Given the description of an element on the screen output the (x, y) to click on. 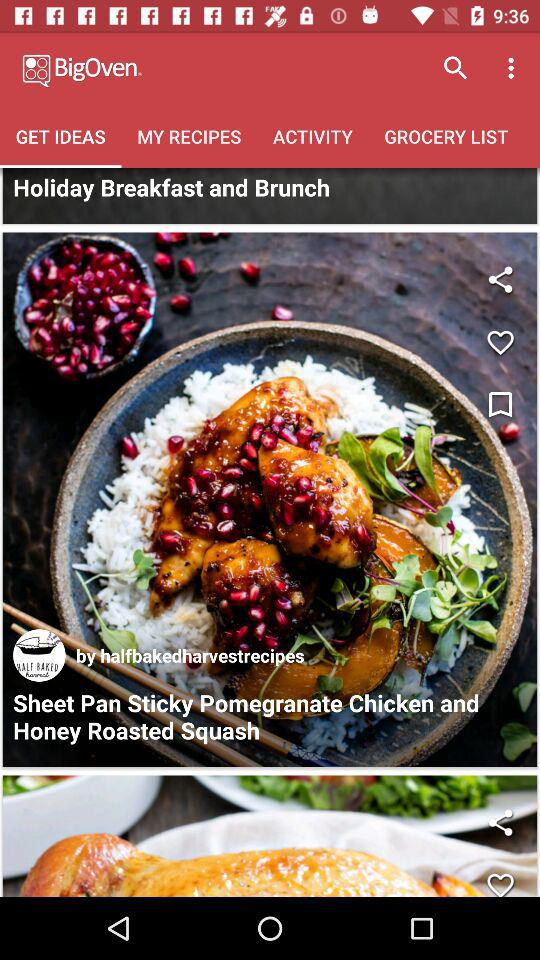
shows recipe category (269, 196)
